Given the description of an element on the screen output the (x, y) to click on. 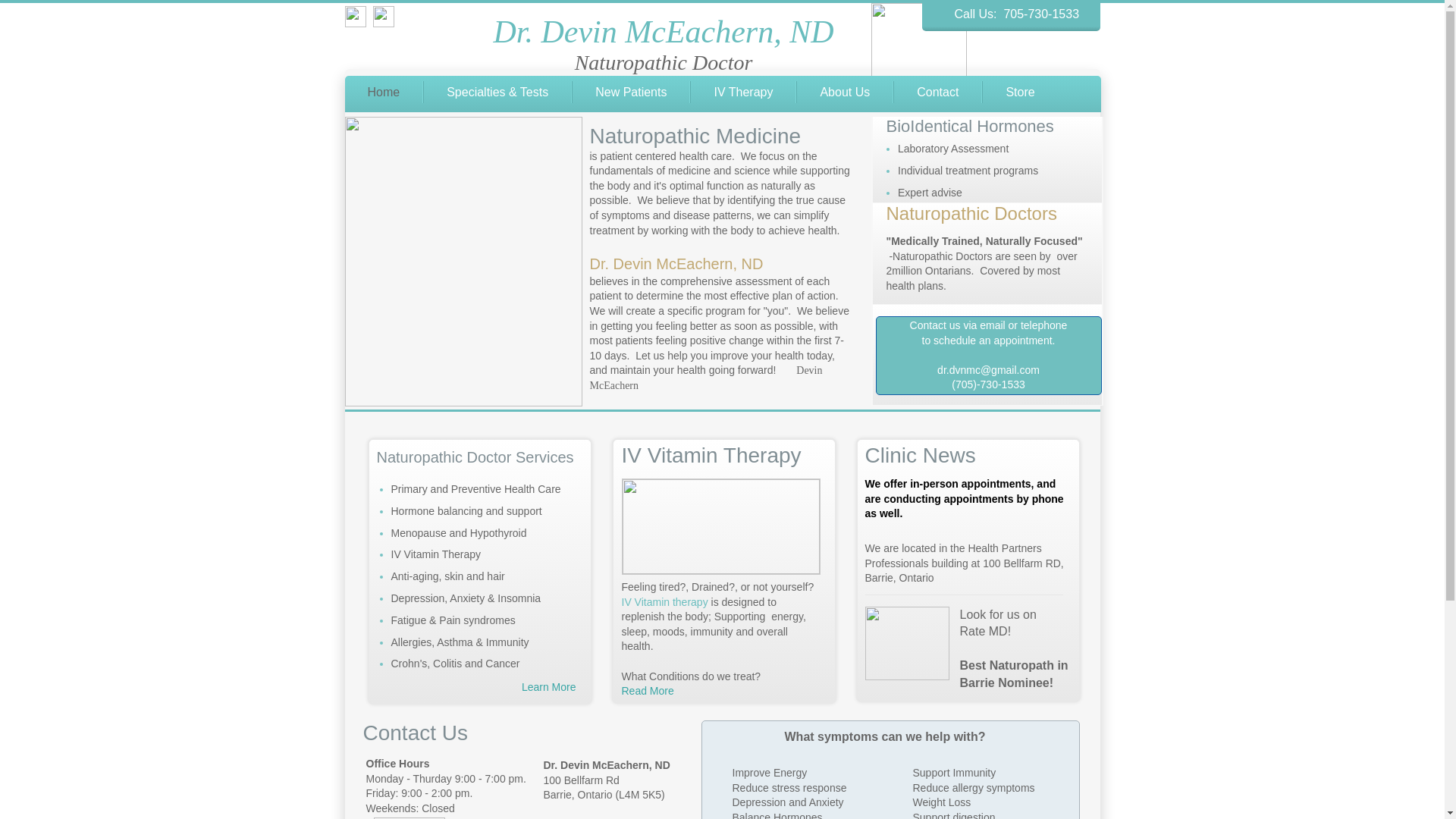
Specialties & Tests Element type: text (497, 92)
Store Element type: text (1019, 92)
Home Element type: text (383, 92)
New Patients Element type: text (630, 92)
Contact Element type: text (937, 92)
Read More Element type: text (647, 690)
IV Therapy Element type: text (743, 92)
Learn More Element type: text (548, 686)
About Us Element type: text (844, 92)
